Given the description of an element on the screen output the (x, y) to click on. 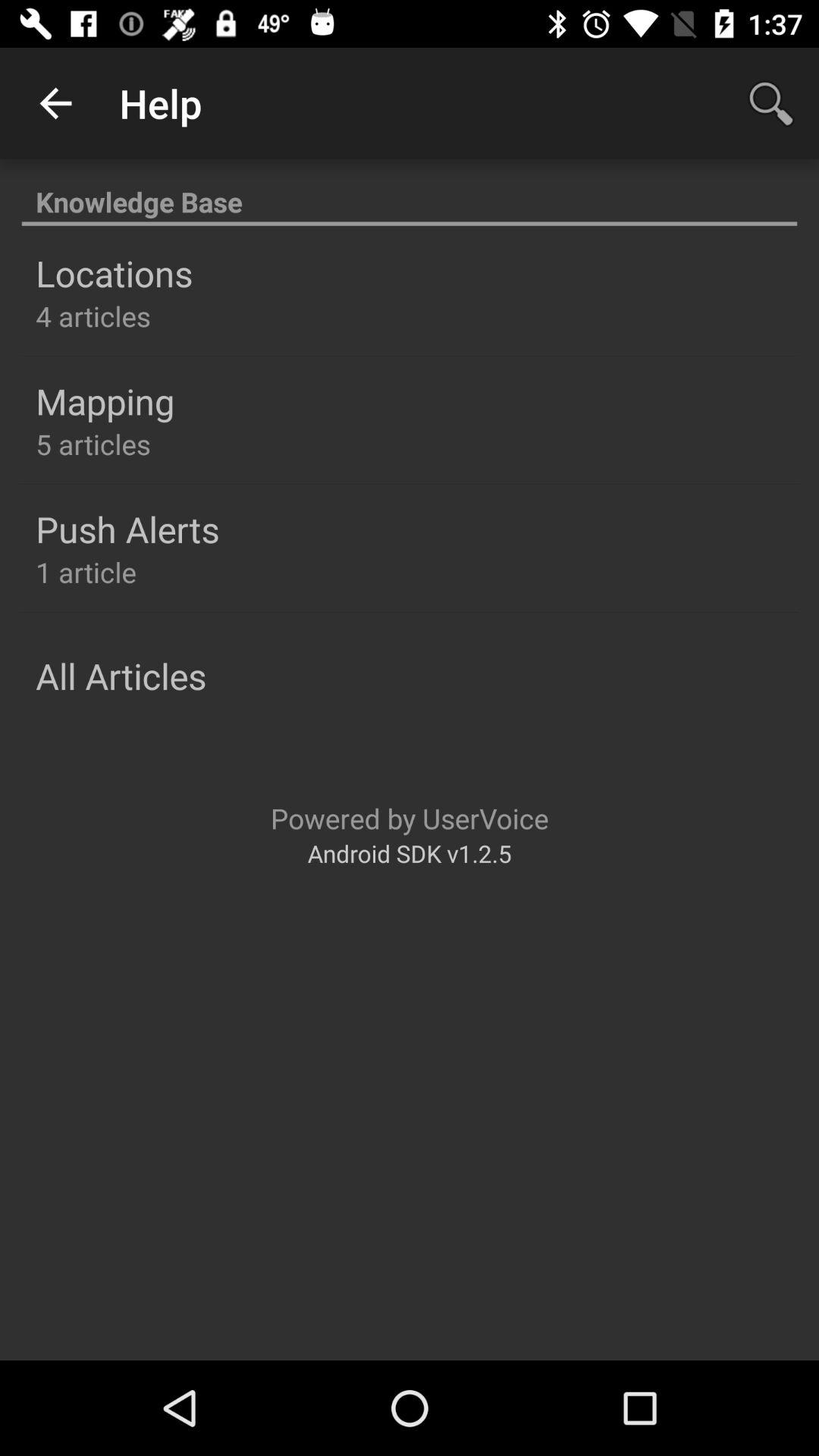
turn off the powered by uservoice icon (409, 818)
